Given the description of an element on the screen output the (x, y) to click on. 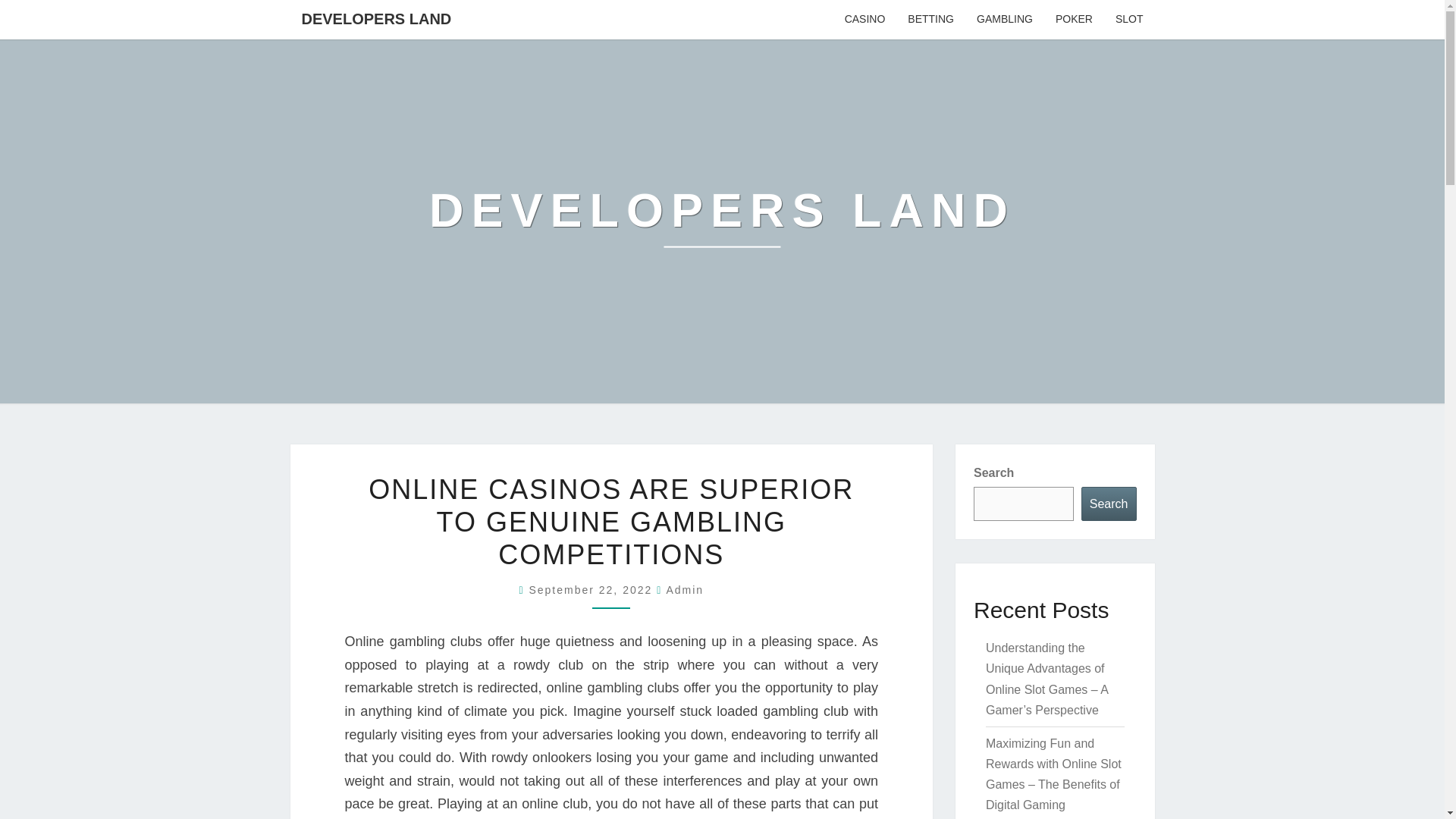
GAMBLING (1004, 19)
CASINO (864, 19)
View all posts by admin (684, 589)
BETTING (930, 19)
SLOT (1128, 19)
DEVELOPERS LAND (376, 18)
Admin (684, 589)
Search (1109, 503)
POKER (1073, 19)
September 22, 2022 (592, 589)
DEVELOPERS LAND (721, 220)
10:04 am (592, 589)
Developers Land (721, 220)
